Given the description of an element on the screen output the (x, y) to click on. 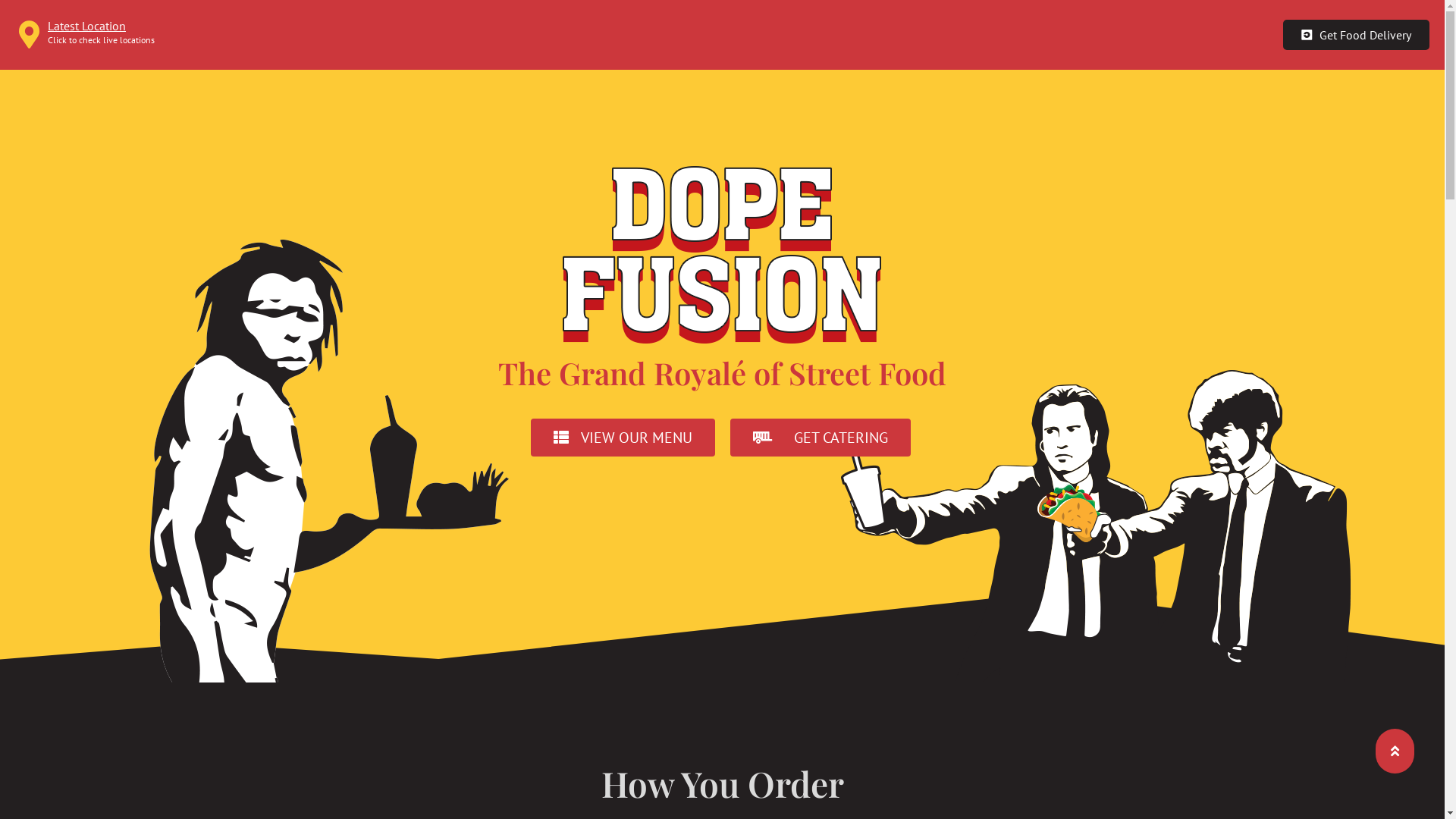
Get Food Delivery Element type: text (1356, 34)
VIEW OUR MENU Element type: text (622, 437)
GET CATERING Element type: text (819, 437)
Latest Location Element type: text (86, 25)
